Given the description of an element on the screen output the (x, y) to click on. 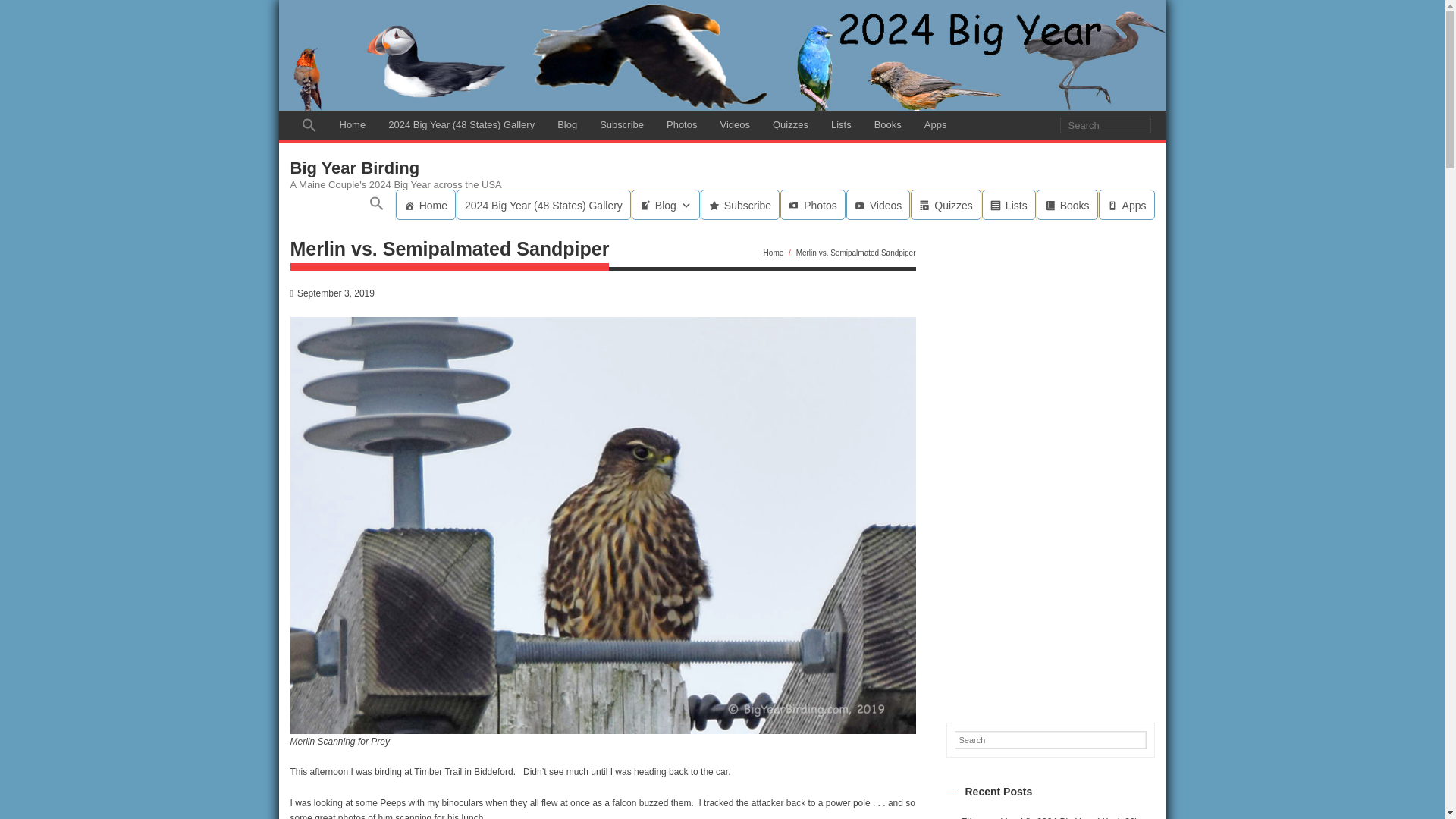
Big Year Birding (394, 168)
Subscribe (739, 204)
Blog (665, 204)
Lists (841, 124)
Search (26, 11)
Quizzes (790, 124)
Merlin vs. Semipalmated Sandpiper (335, 293)
Apps (935, 124)
Photos (812, 204)
Home (425, 204)
Books (887, 124)
Videos (734, 124)
Blog (567, 124)
Photos (681, 124)
